Given the description of an element on the screen output the (x, y) to click on. 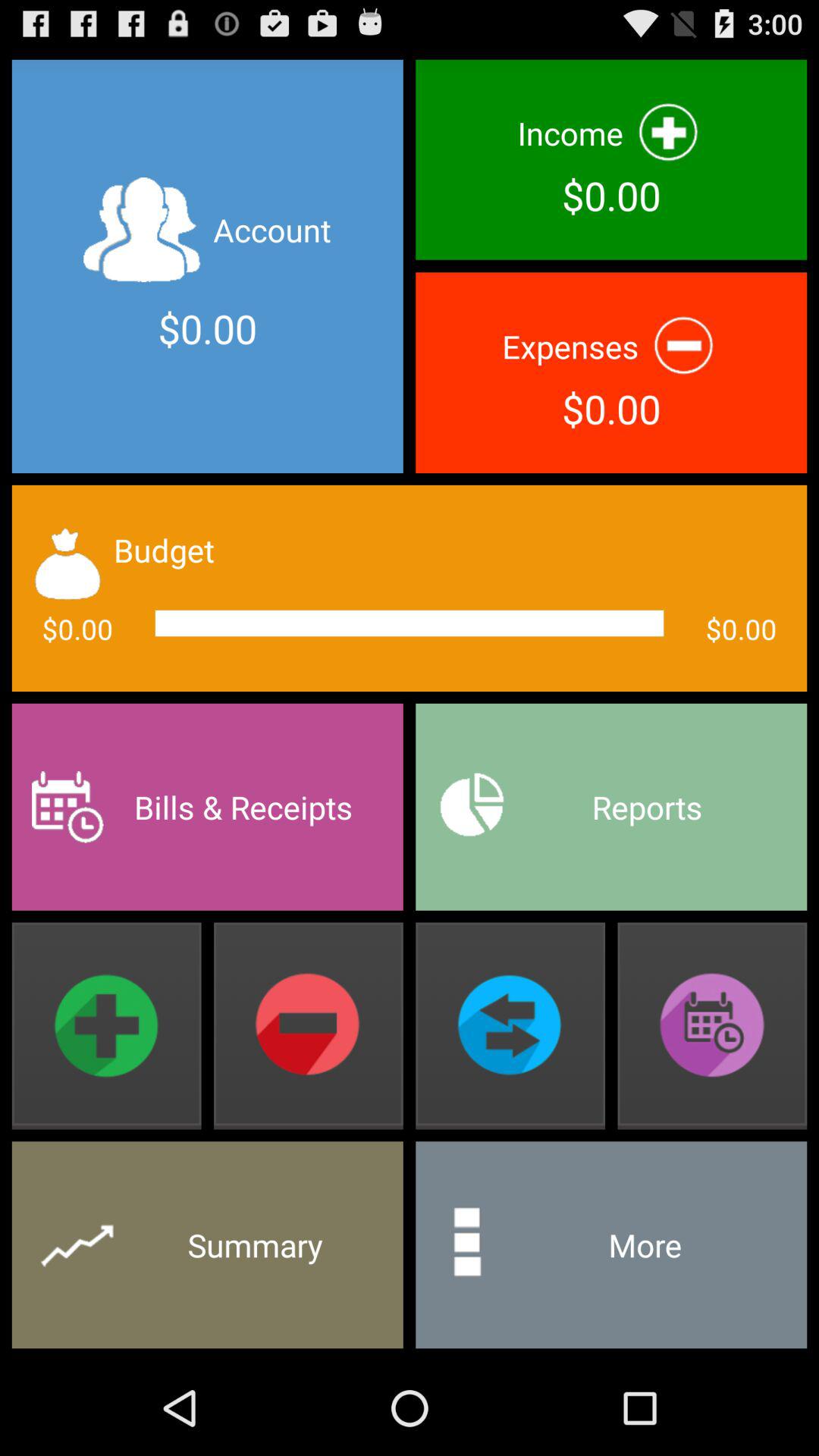
launch app below $0.00 item (207, 806)
